Given the description of an element on the screen output the (x, y) to click on. 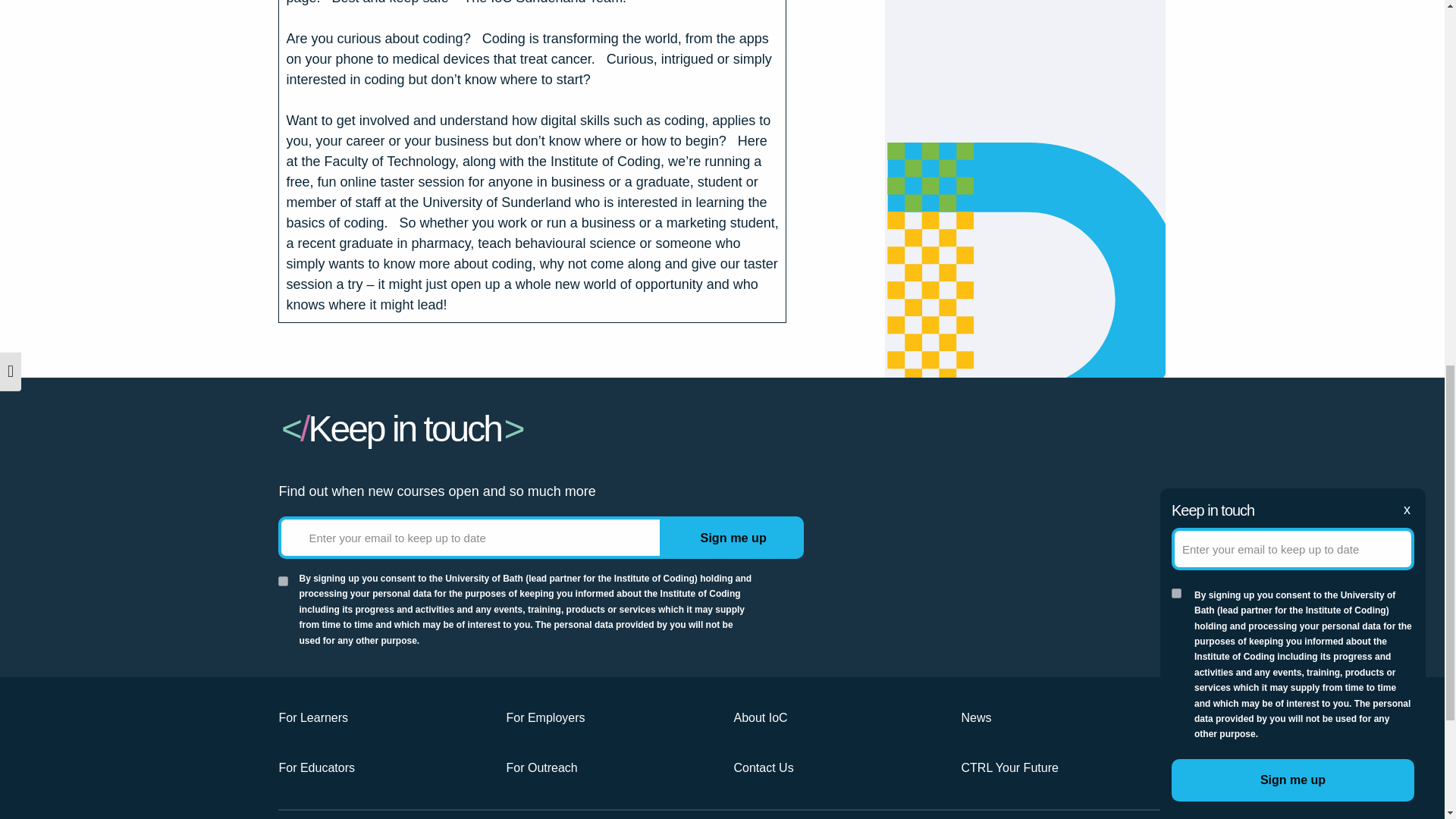
Sign me up (732, 537)
Sign me up (732, 537)
For Learners (380, 718)
For Educators (380, 768)
